Given the description of an element on the screen output the (x, y) to click on. 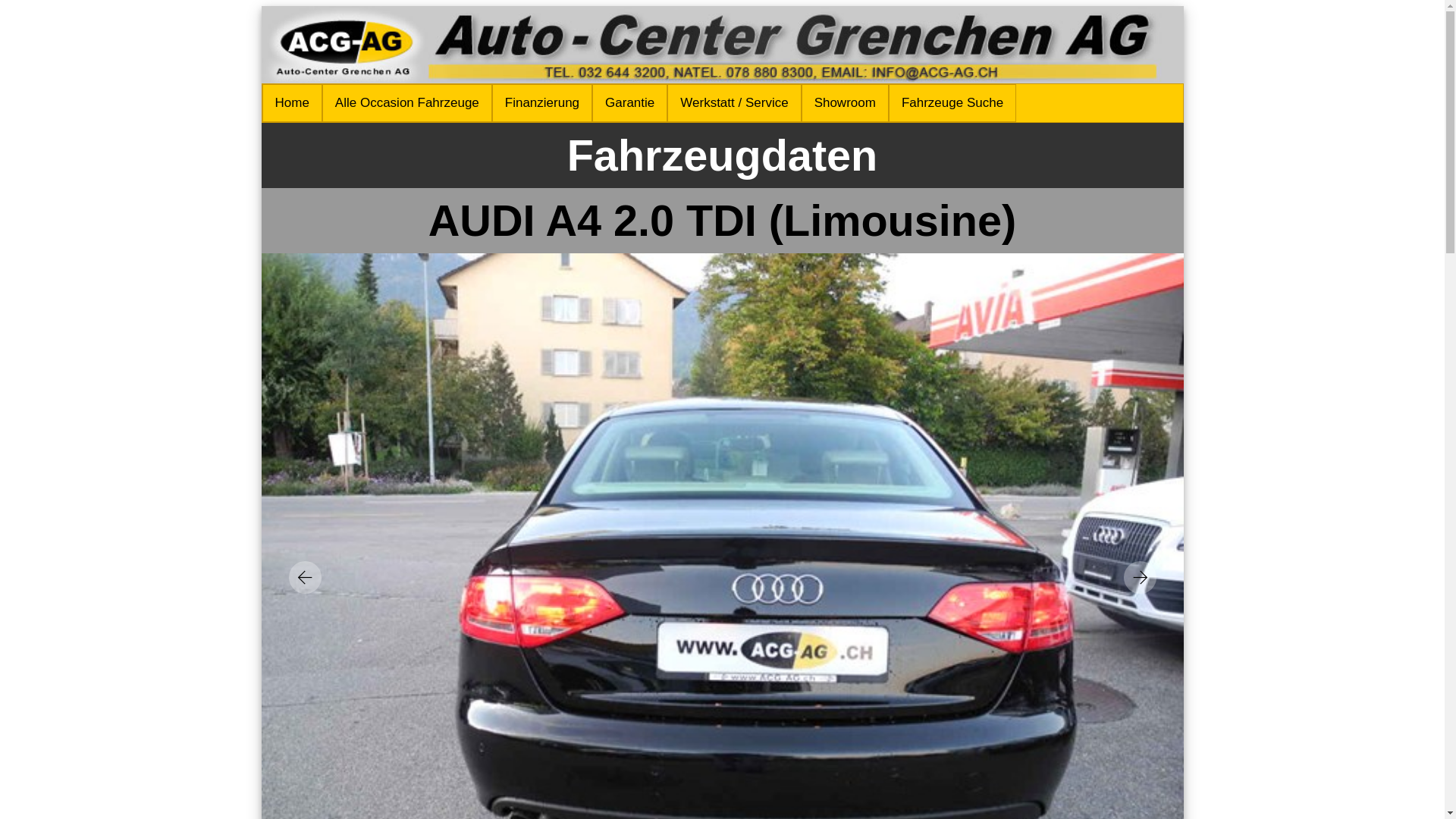
Werkstatt / Service Element type: text (733, 103)
Garantie Element type: text (629, 103)
Finanzierung Element type: text (542, 103)
Fahrzeuge Suche Element type: text (952, 103)
Showroom Element type: text (844, 103)
Alle Occasion Fahrzeuge Element type: text (407, 103)
Home Element type: text (292, 103)
